Given the description of an element on the screen output the (x, y) to click on. 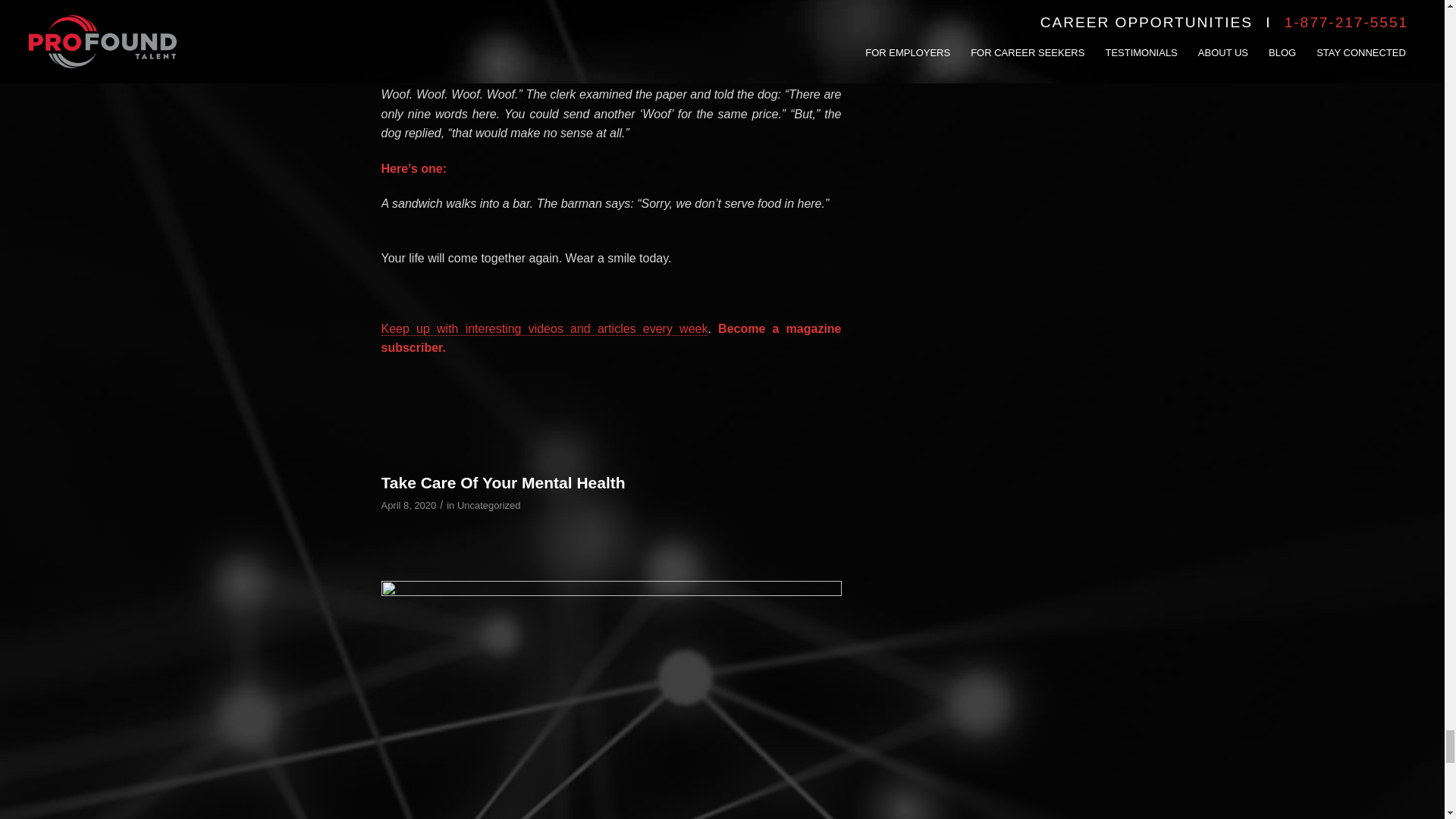
Permanent Link: Take Care Of Your Mental Health (502, 482)
